Given the description of an element on the screen output the (x, y) to click on. 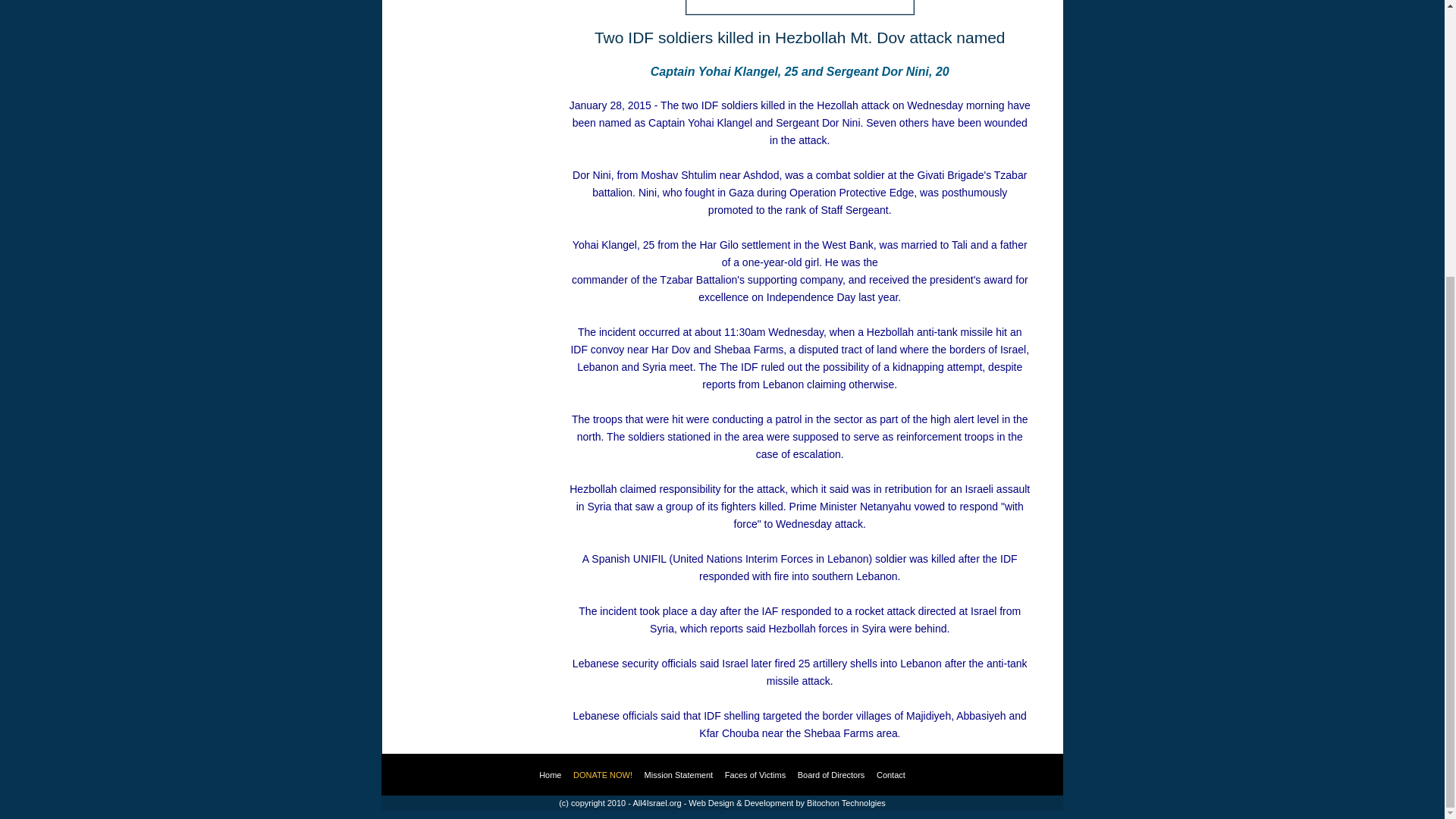
Contact (890, 774)
Board of Directors (830, 774)
Faces of Victims (755, 774)
Home (549, 774)
DONATE NOW! (602, 774)
Mission Statement (679, 774)
